Given the description of an element on the screen output the (x, y) to click on. 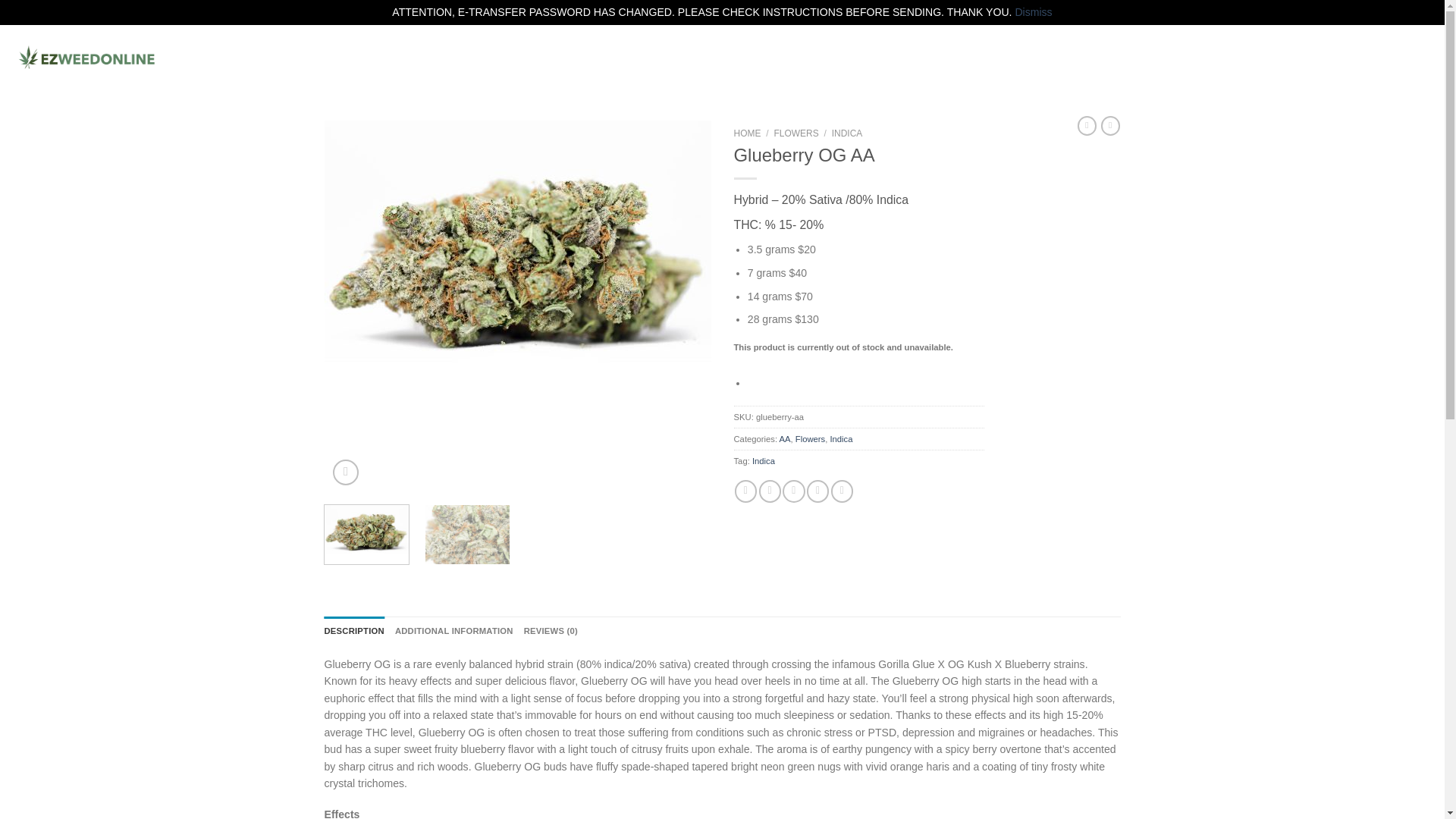
SHROOMS (614, 57)
HEALTH (543, 57)
Email to a Friend (794, 490)
Zoom (345, 472)
Cart (1383, 57)
Share on LinkedIn (842, 490)
EDIBLES (477, 57)
Share on Facebook (746, 490)
Dismiss (1032, 11)
FLOWERS (293, 57)
CONCENTRATES (387, 57)
Share on Twitter (769, 490)
DEALS (230, 57)
Pin on Pinterest (817, 490)
